Given the description of an element on the screen output the (x, y) to click on. 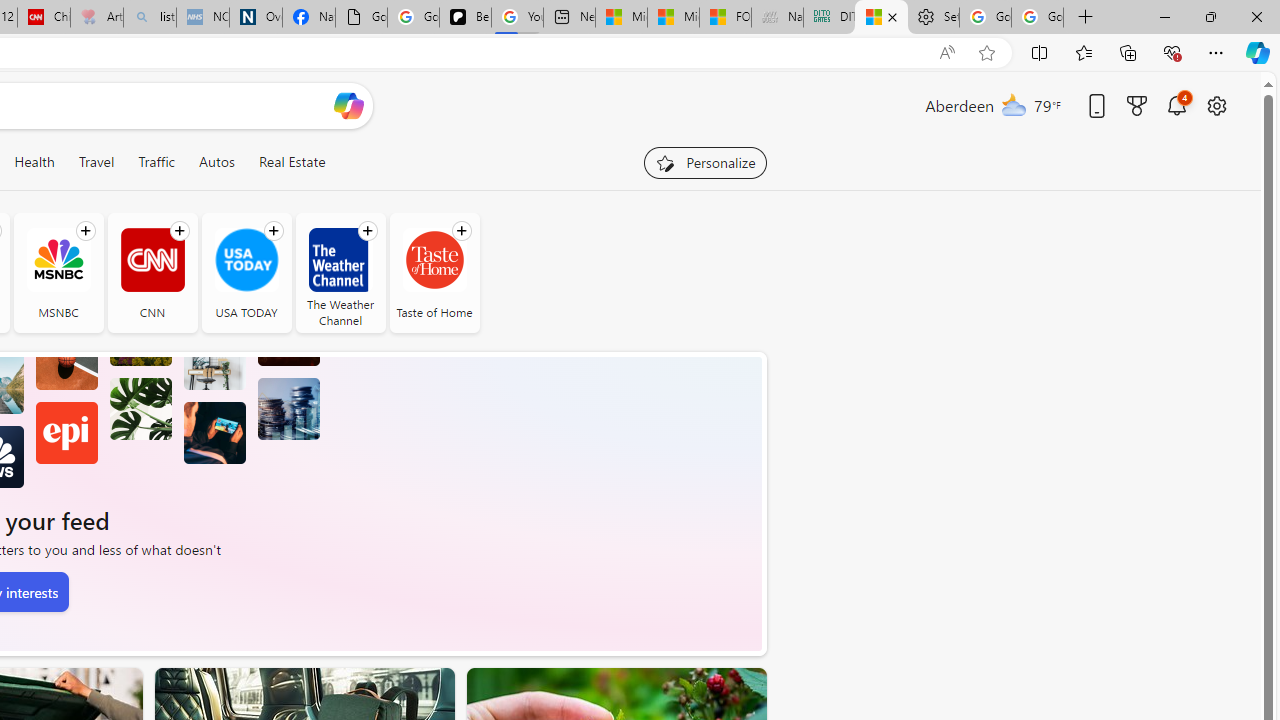
Taste of Home (434, 272)
Traffic (156, 161)
Traffic (156, 162)
MSNBC (57, 272)
CNN (152, 272)
CNN (152, 260)
USA TODAY (245, 272)
